Given the description of an element on the screen output the (x, y) to click on. 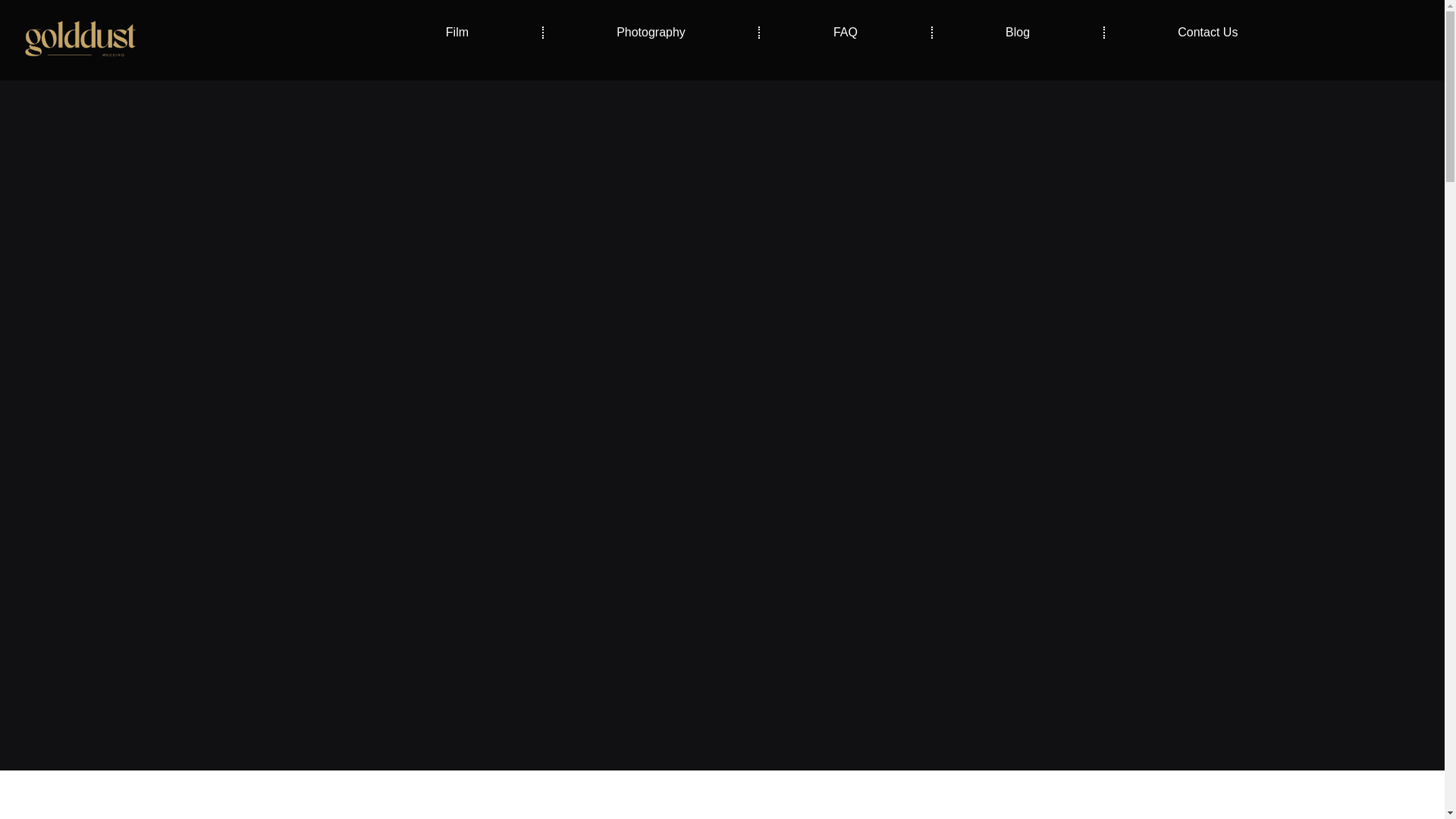
Film (456, 32)
Contact Us (1208, 32)
FAQ (845, 32)
Photography (650, 32)
Blog (1018, 32)
